Given the description of an element on the screen output the (x, y) to click on. 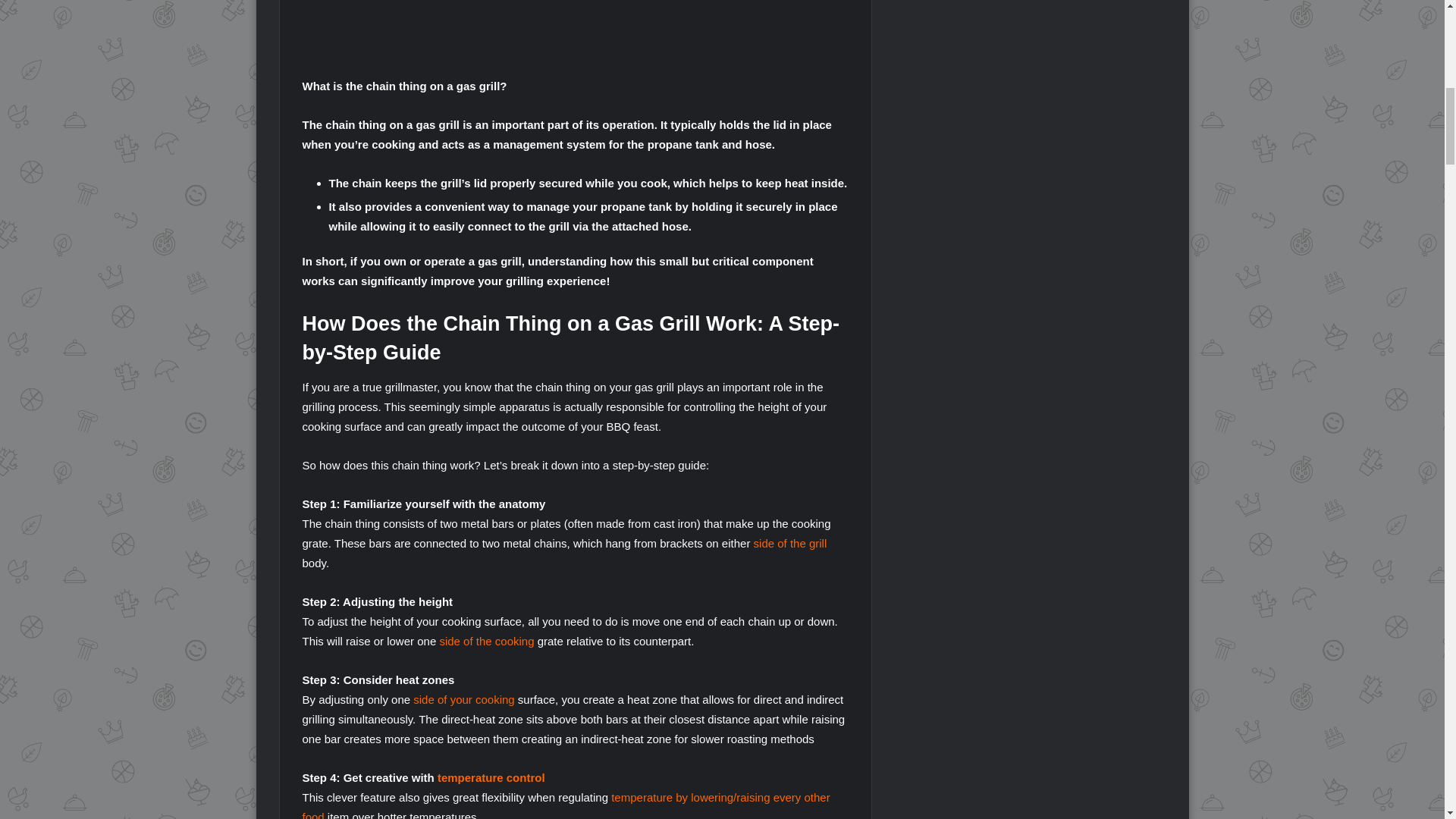
side of the cooking (486, 640)
side of the grill (790, 543)
temperature control (491, 777)
side of your cooking (463, 698)
